Given the description of an element on the screen output the (x, y) to click on. 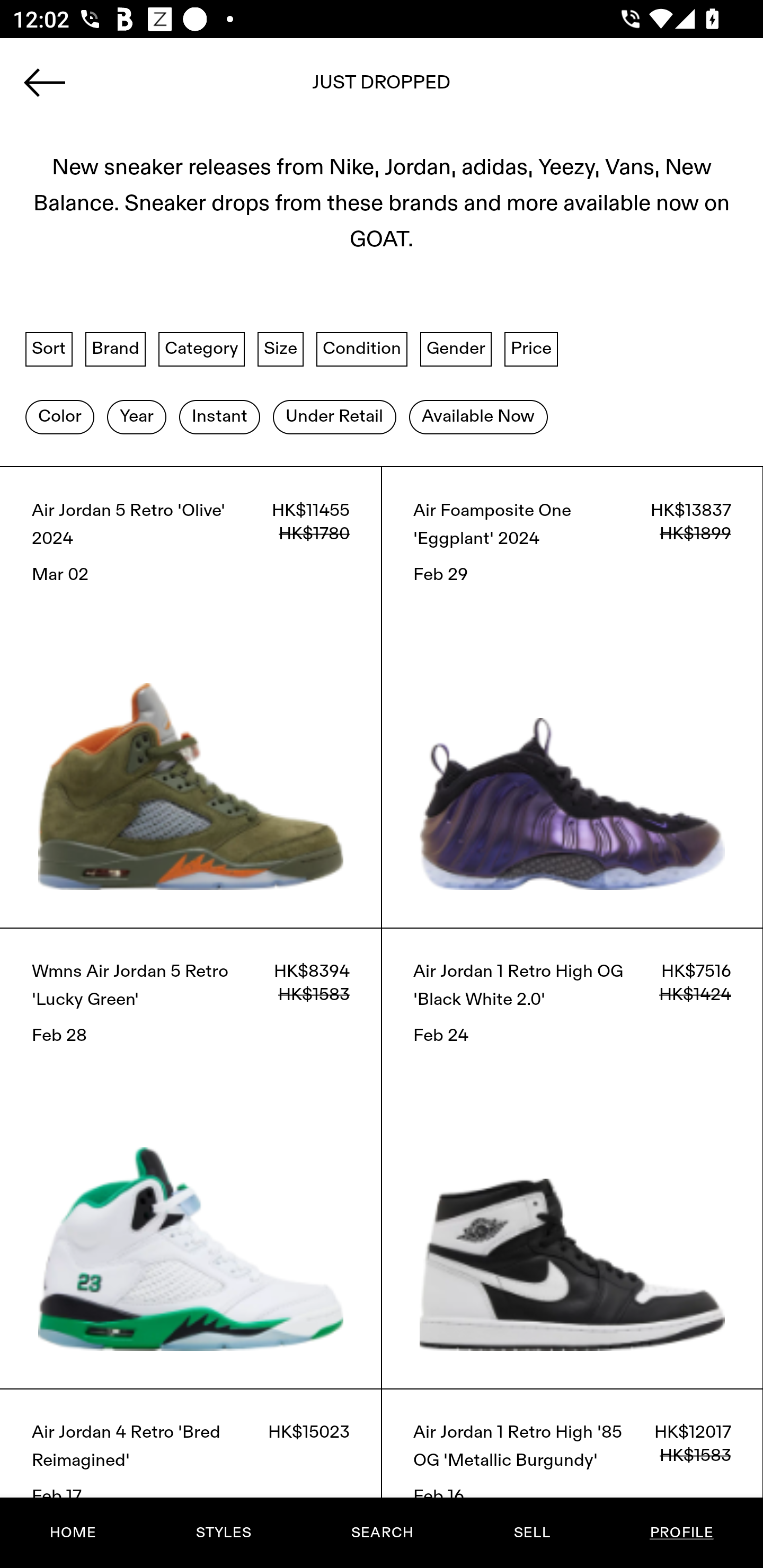
boots (381, 88)
Sort (48, 348)
Brand (115, 348)
Category (201, 348)
Size (280, 348)
Condition (361, 348)
Gender (455, 348)
Price (530, 348)
Color (59, 416)
Year (136, 416)
Instant (219, 416)
Under Retail (334, 416)
Available Now (477, 416)
HOME (72, 1532)
STYLES (222, 1532)
SEARCH (381, 1532)
SELL (531, 1532)
PROFILE (681, 1532)
